Given the description of an element on the screen output the (x, y) to click on. 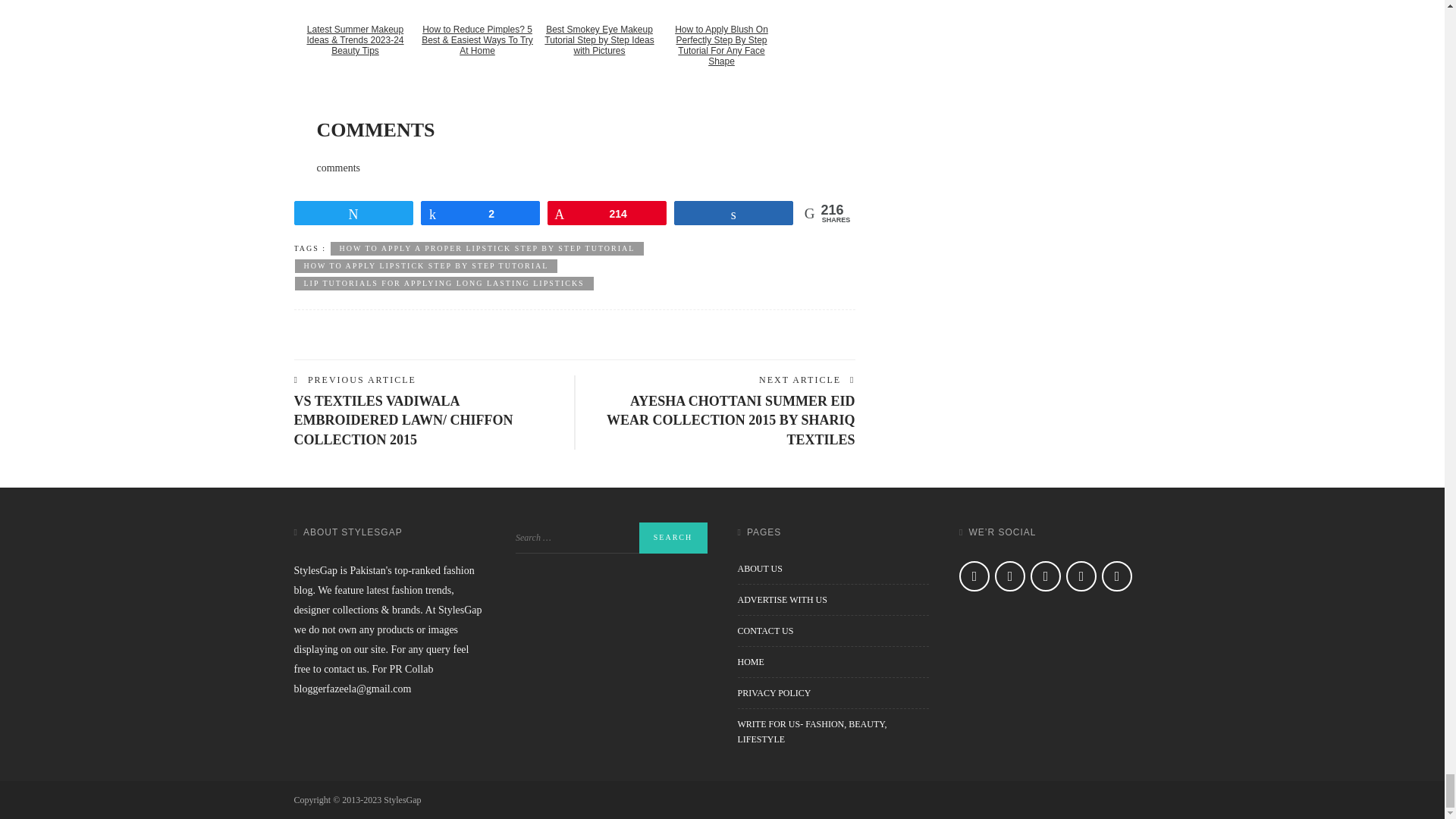
how to apply lipstick step by step tutorial (425, 265)
Search (672, 537)
how to apply a proper lipstick step by step tutorial (487, 248)
Search (672, 537)
